Given the description of an element on the screen output the (x, y) to click on. 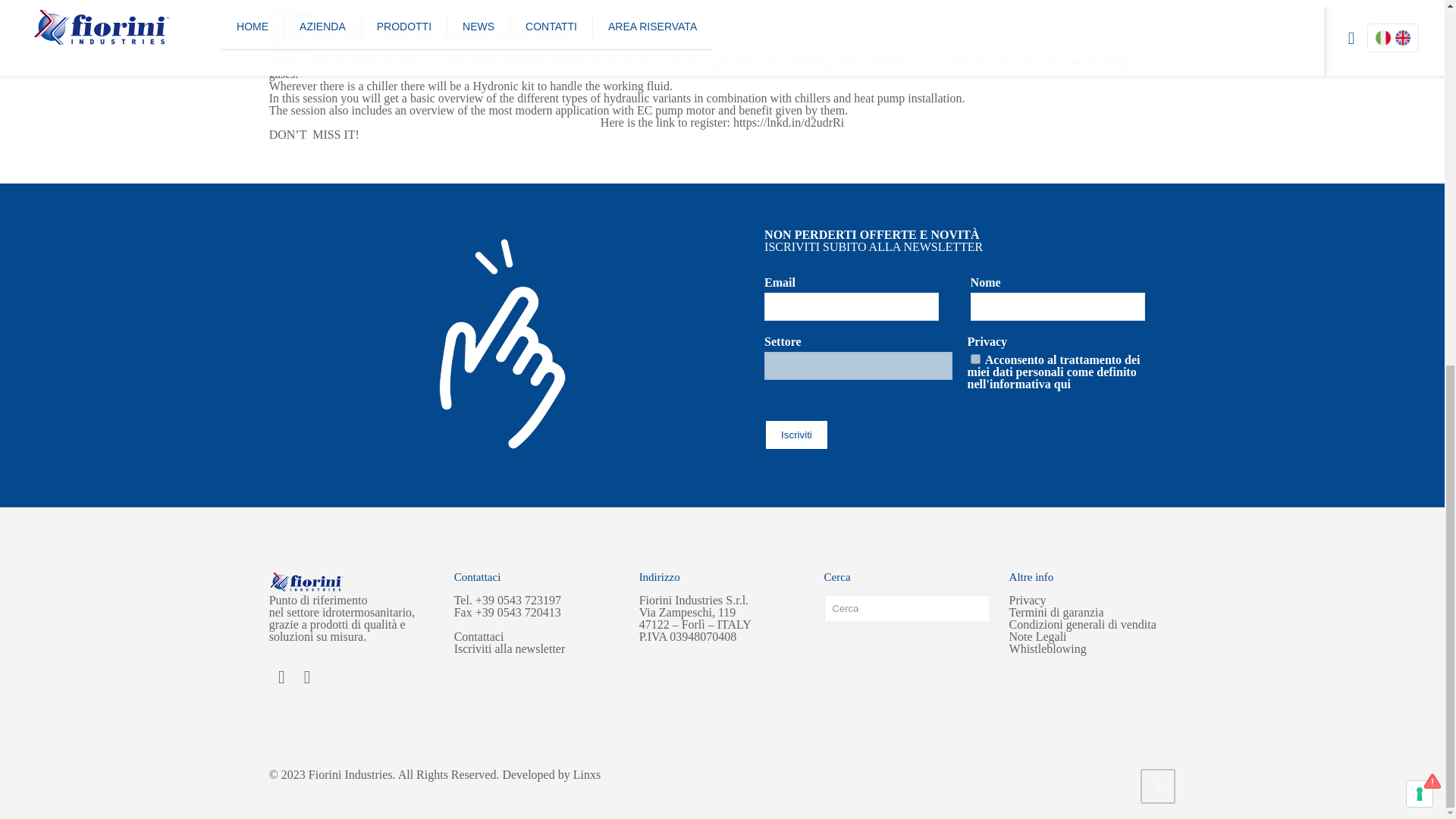
Note Legali (1038, 635)
Privacy (1027, 599)
Iscriviti (796, 434)
Termini di garanzia (1056, 612)
Privacy (1062, 383)
Condizioni generali di vendita (1082, 624)
qui (1062, 383)
